Given the description of an element on the screen output the (x, y) to click on. 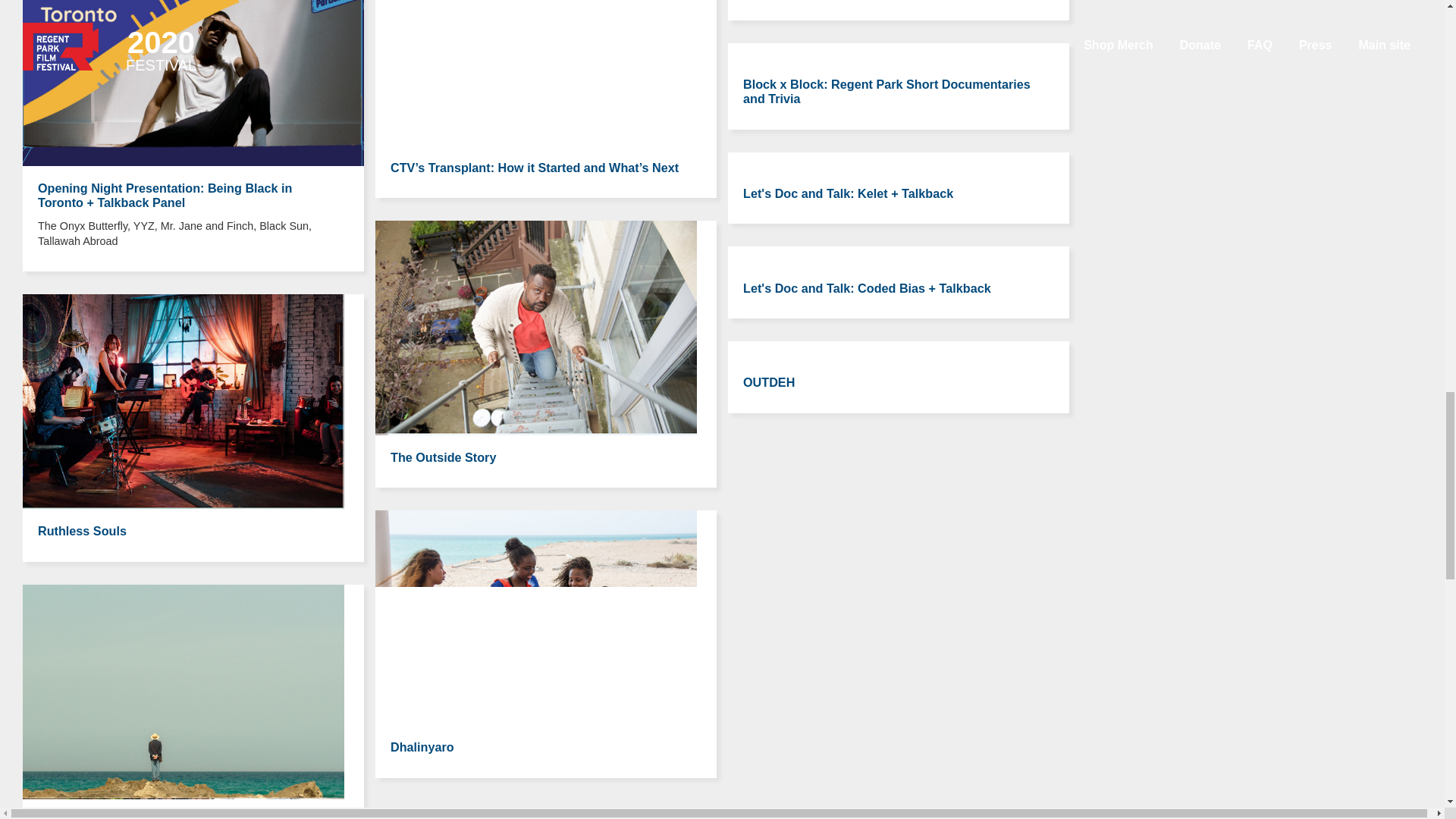
The Outside Story (443, 457)
Ruthless Souls (81, 530)
Block x Block: Regent Park Short Documentaries and Trivia (886, 90)
Dhalinyaro (422, 746)
It Must Be Heaven (89, 816)
OUTDEH (768, 382)
